Given the description of an element on the screen output the (x, y) to click on. 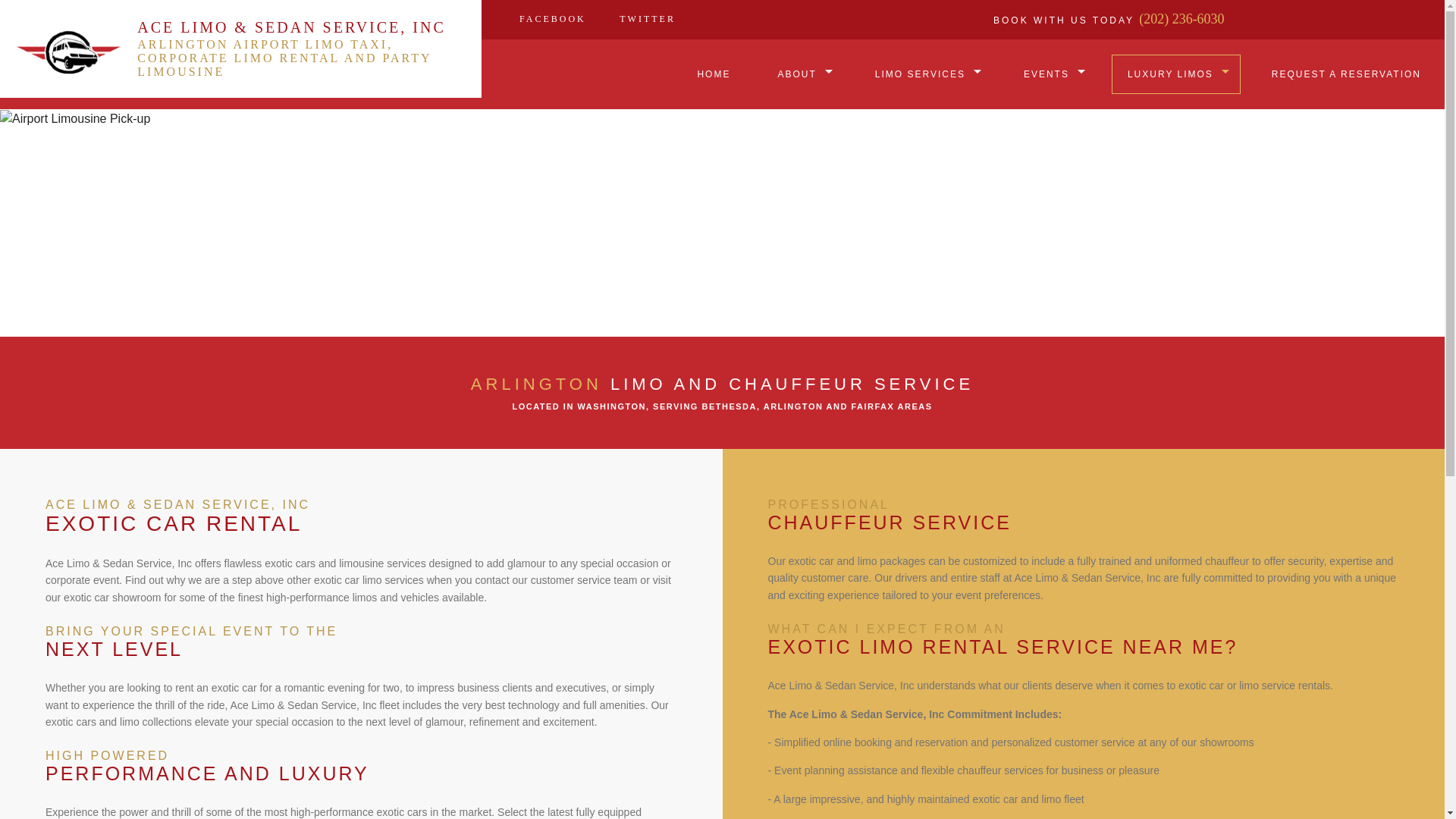
LIMO SERVICES (925, 74)
FACEBOOK (552, 18)
ABOUT (802, 74)
TWITTER (647, 18)
EVENTS (1051, 74)
LUXURY LIMOS (1176, 74)
HOME (713, 74)
REQUEST A RESERVATION (1346, 74)
